Given the description of an element on the screen output the (x, y) to click on. 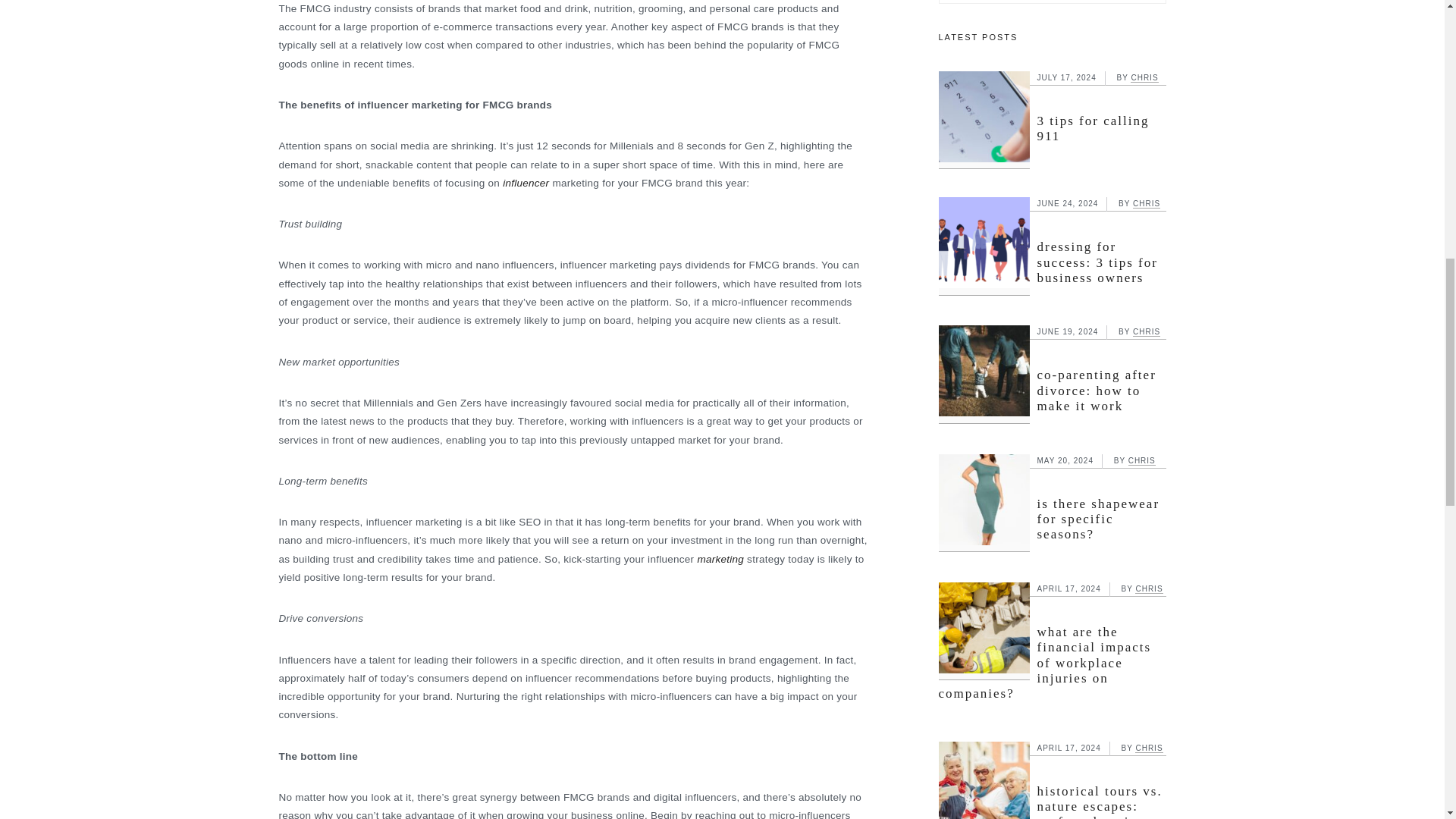
CHRIS (1146, 203)
dressing for success: 3 tips for business owners (1096, 262)
3 Tips For Calling 911 (984, 119)
CHRIS (1144, 77)
Co-Parenting After Divorce: How to Make It Work (984, 374)
CHRIS (1142, 461)
is there shapewear for specific seasons? (1098, 519)
Dressing for Success: 3 Tips for Business Owners (984, 245)
influencer (525, 183)
co-parenting after divorce: how to make it work (1096, 390)
3 tips for calling 911 (1093, 128)
marketing (720, 559)
